Given the description of an element on the screen output the (x, y) to click on. 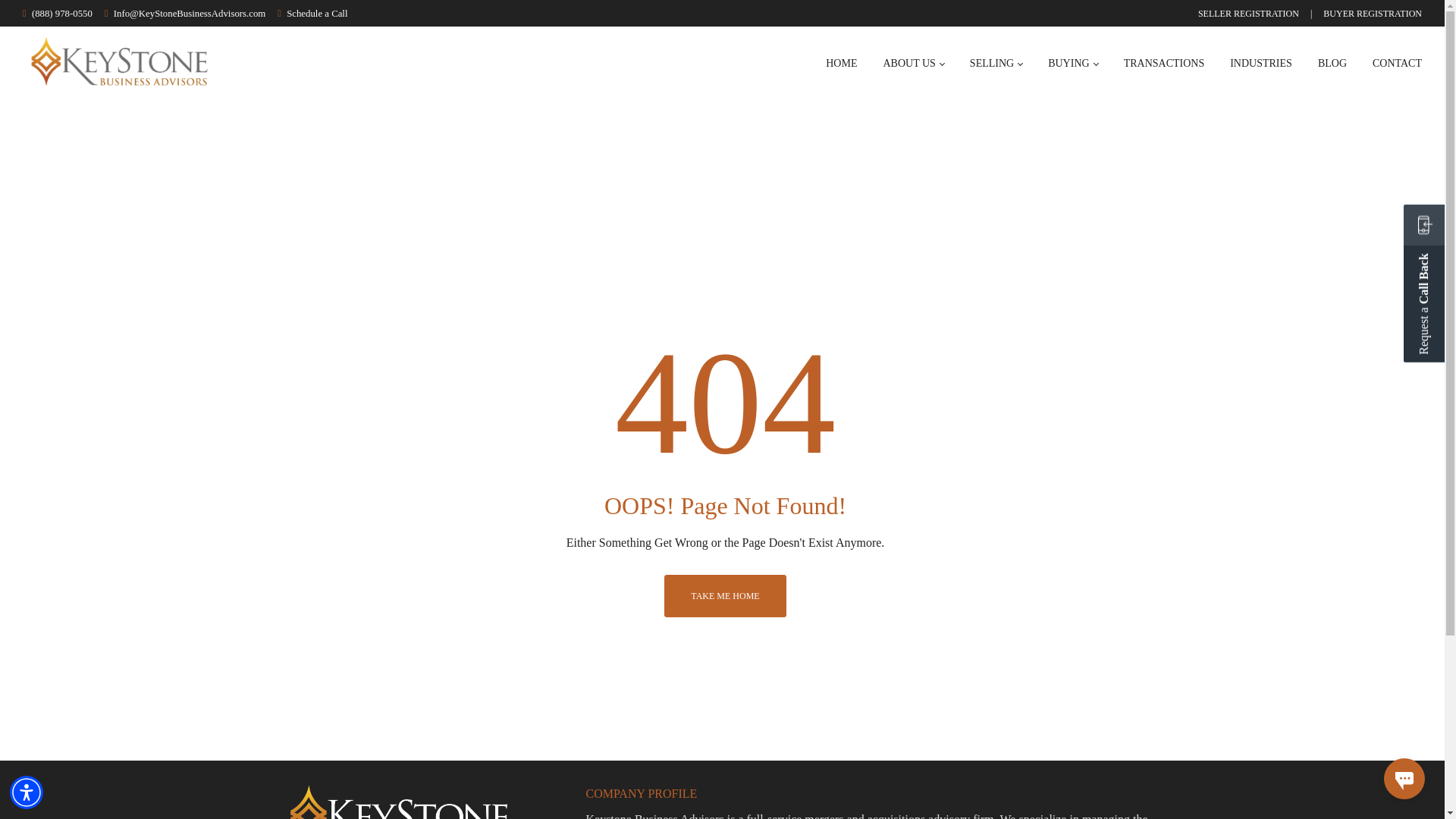
TRANSACTIONS (1164, 64)
SELLING (995, 64)
Schedule a Call (316, 13)
ABOUT US (912, 64)
Accessibility Menu (26, 792)
INDUSTRIES (1261, 64)
CONTACT (1396, 64)
SELLER REGISTRATION (1248, 13)
BUYING (1072, 64)
BUYER REGISTRATION (1372, 13)
